Given the description of an element on the screen output the (x, y) to click on. 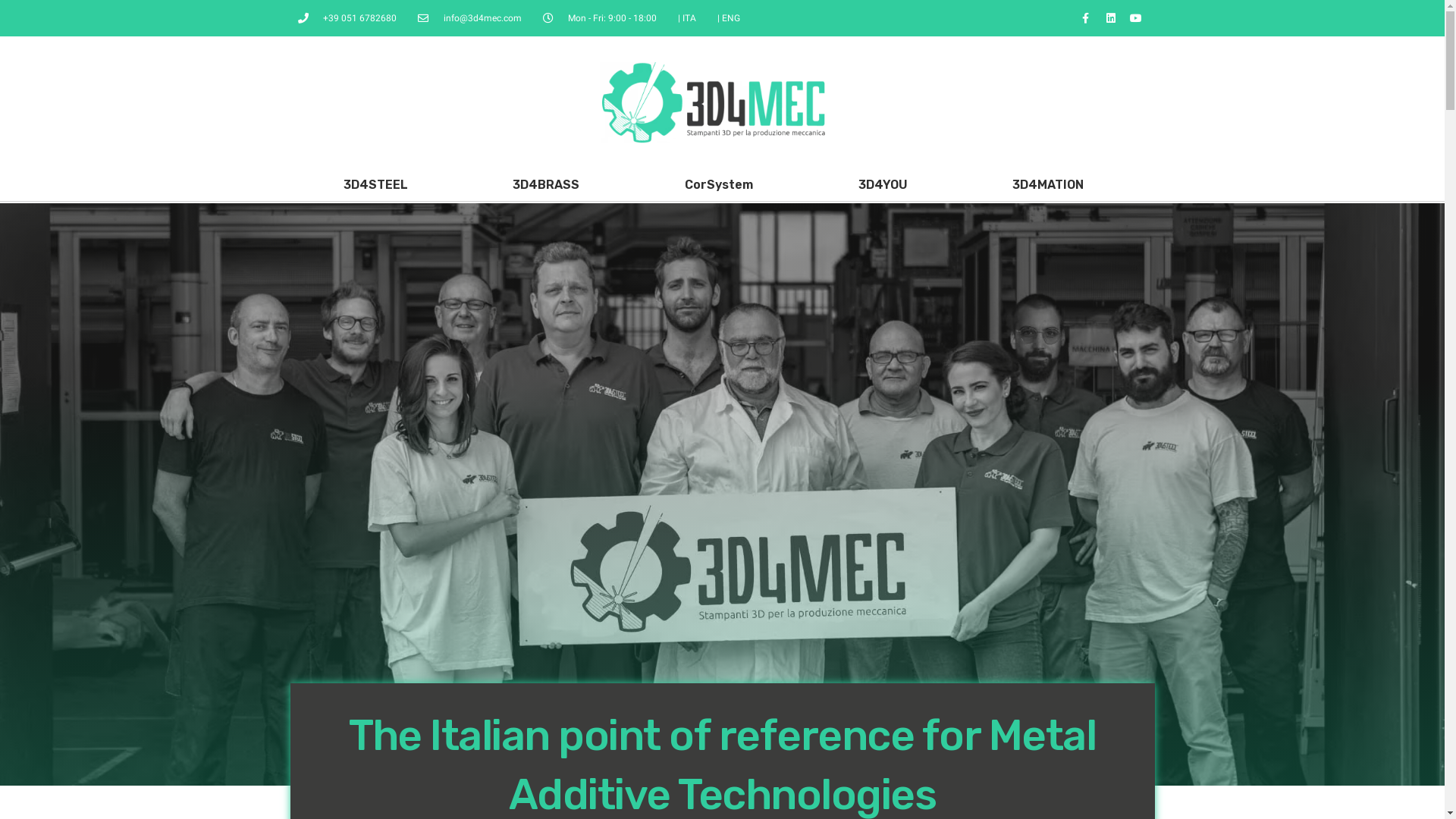
3D4YOU Element type: text (882, 184)
| ITA Element type: text (686, 18)
3D4STEEL Element type: text (376, 184)
3D4MATION Element type: text (1048, 184)
3D4BRASS Element type: text (546, 184)
| ENG Element type: text (728, 18)
CorSystem Element type: text (719, 184)
